Given the description of an element on the screen output the (x, y) to click on. 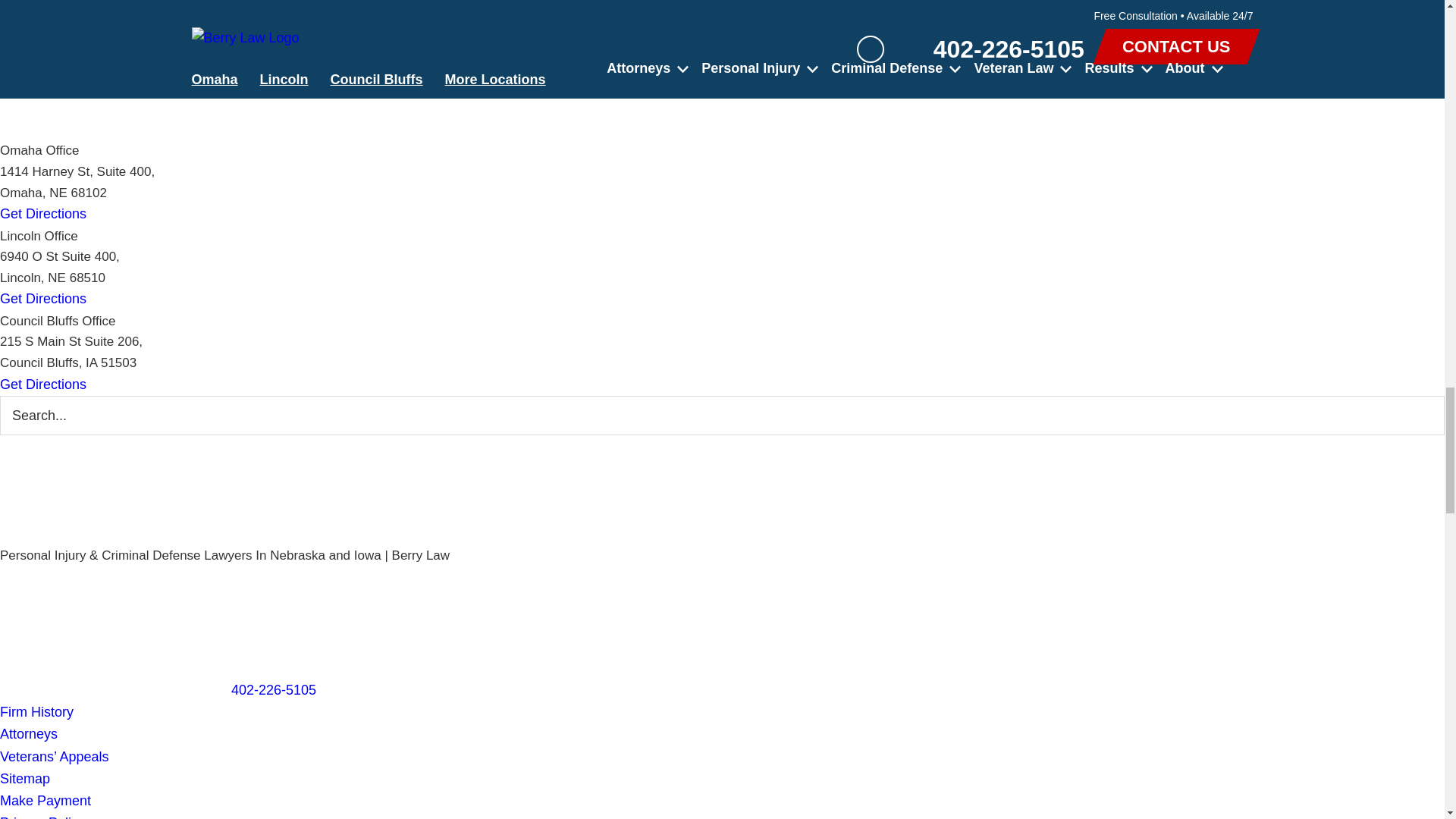
Berry Law Logo (81, 489)
Berry Law (81, 445)
Omaha Concealed Carry Lawyer (330, 85)
Omaha Concealed Carry Lawyer (330, 15)
